Given the description of an element on the screen output the (x, y) to click on. 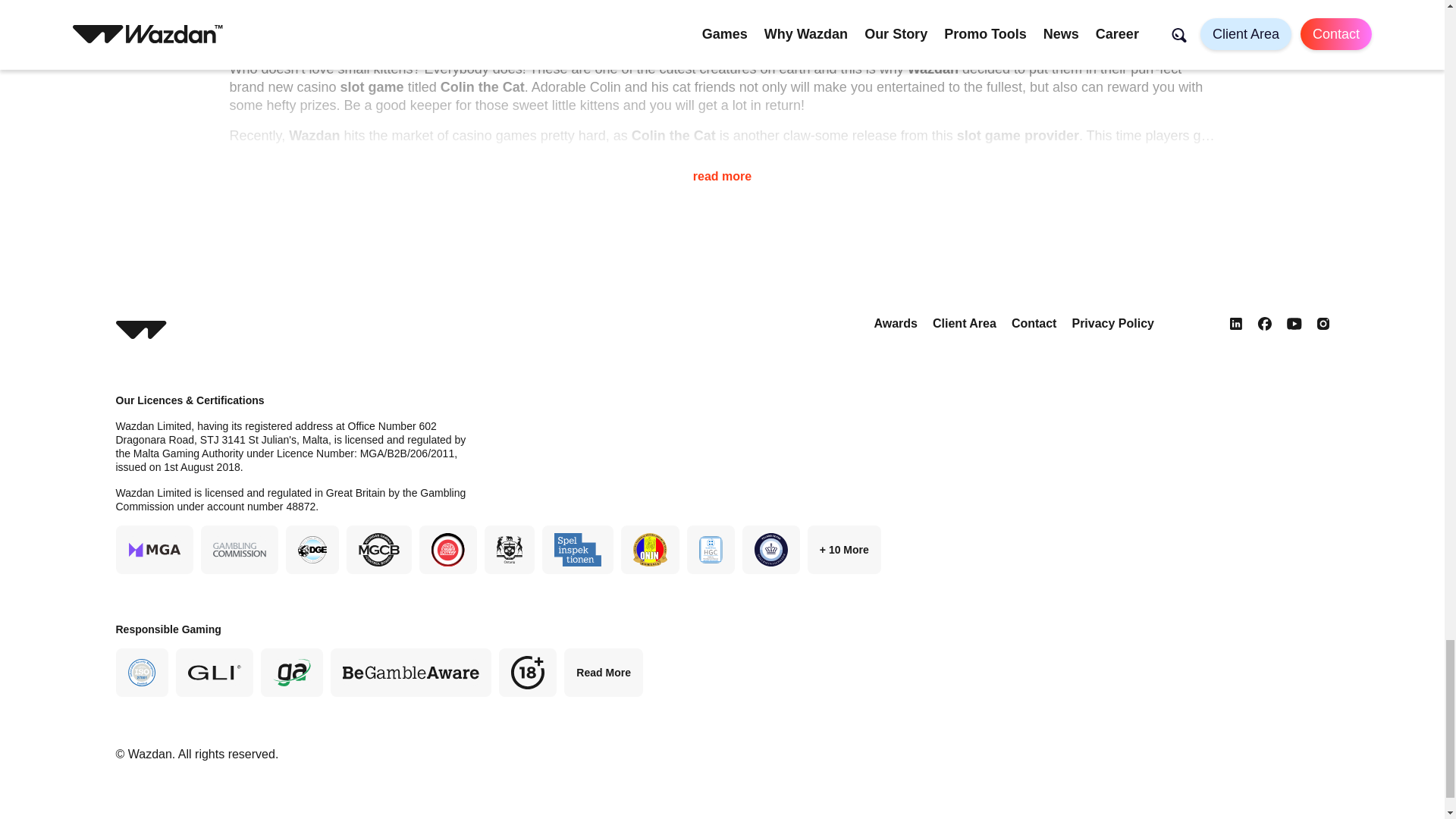
Client Area (964, 323)
Privacy Policy (1112, 323)
Awards (895, 323)
Contact (1034, 323)
read more (722, 164)
